Given the description of an element on the screen output the (x, y) to click on. 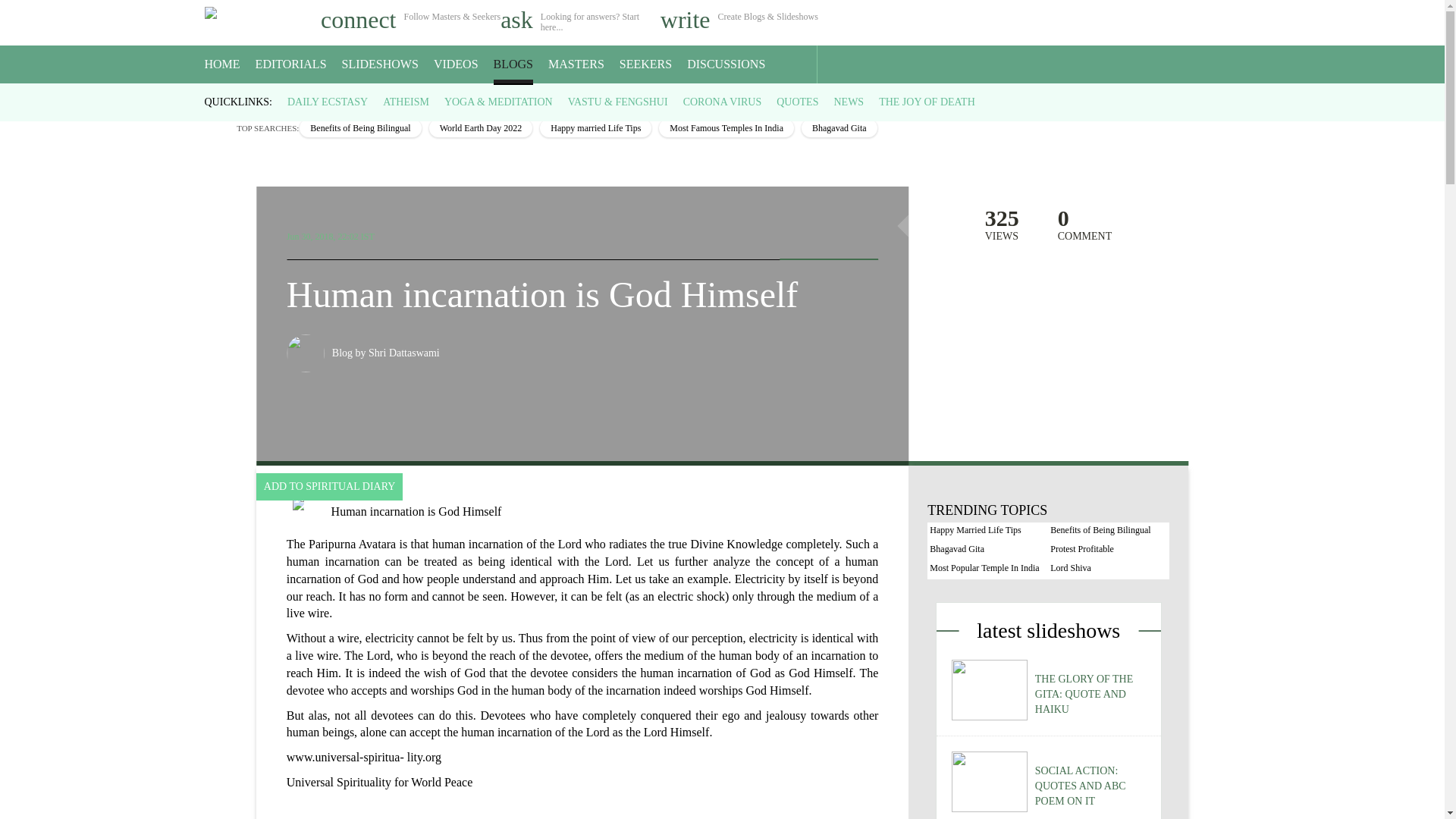
VIDEOS (456, 64)
NEWS (847, 101)
Share on Facebook (796, 231)
ATHEISM (405, 101)
HOME (222, 64)
Blogs (251, 96)
DAILY ECSTASY (327, 101)
Share on Twitter (828, 231)
Speaking Tree (216, 96)
CORONA VIRUS (721, 101)
Share on LinkedIn (860, 231)
SEEKERS (645, 64)
MASTERS (576, 64)
DISCUSSIONS (726, 64)
QUOTES (797, 101)
